Given the description of an element on the screen output the (x, y) to click on. 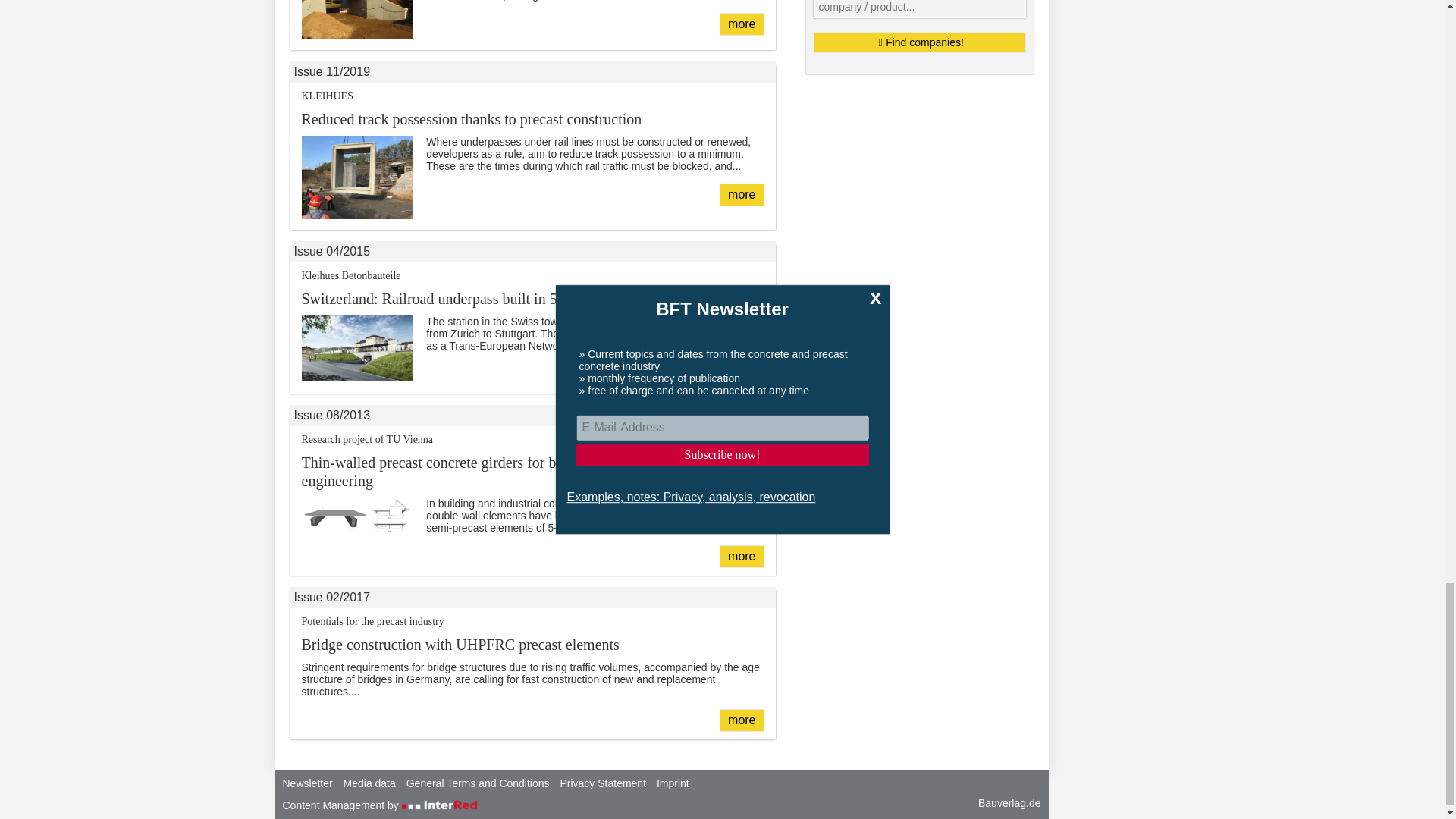
Reduced track possession thanks to precast construction (740, 194)
Suchen (740, 374)
Bridge construction with UHPFRC precast elements (918, 42)
Bau-Produkte oder Anbieter (740, 720)
